Given the description of an element on the screen output the (x, y) to click on. 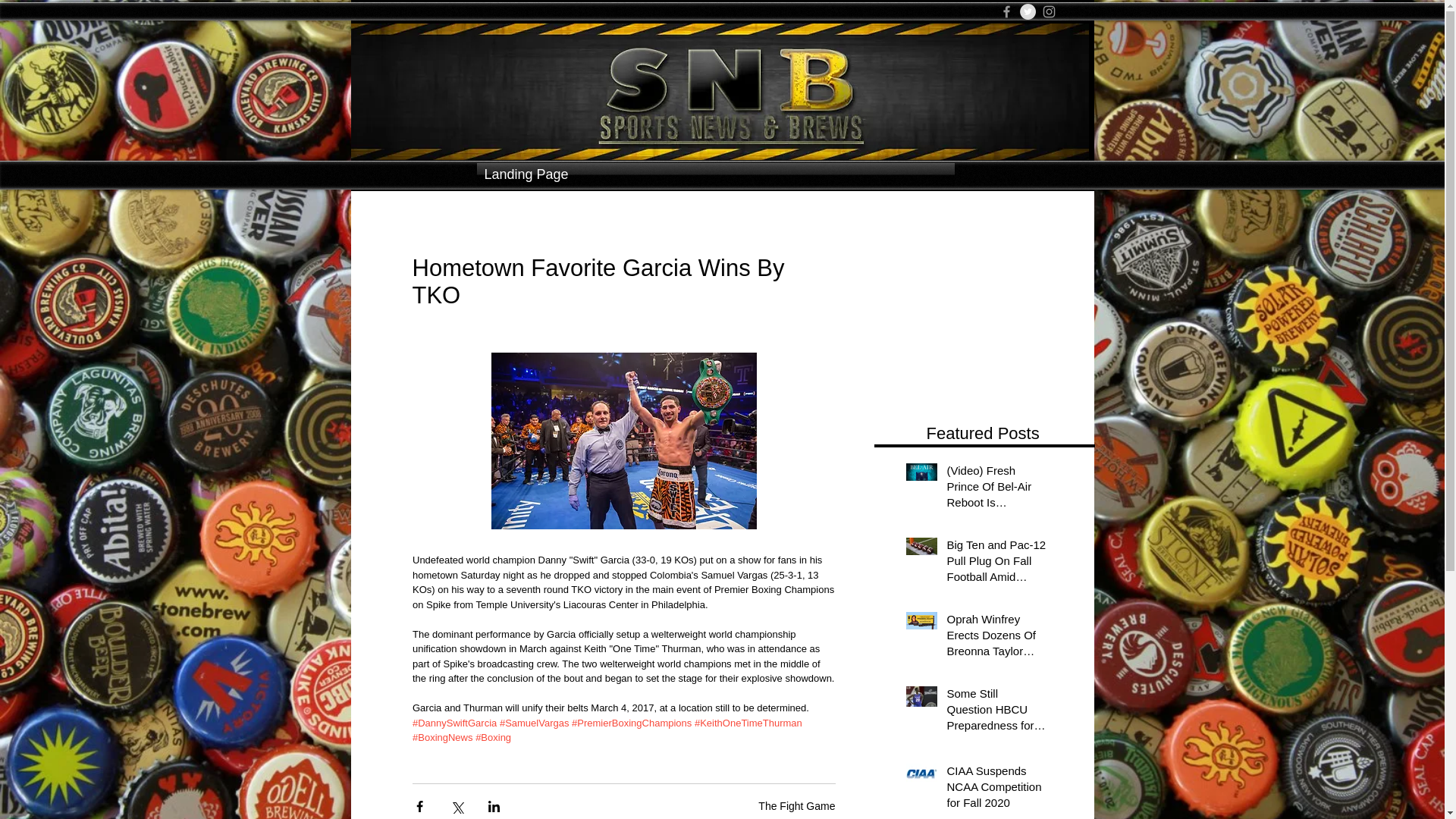
Some Still Question HBCU Preparedness for Blue Chip Athletes (995, 712)
CIAA Suspends NCAA Competition for Fall 2020 (995, 789)
Big Ten and Pac-12 Pull Plug On Fall Football Amid Pandemic (995, 563)
Landing Page (714, 174)
The Fight Game (796, 806)
